Given the description of an element on the screen output the (x, y) to click on. 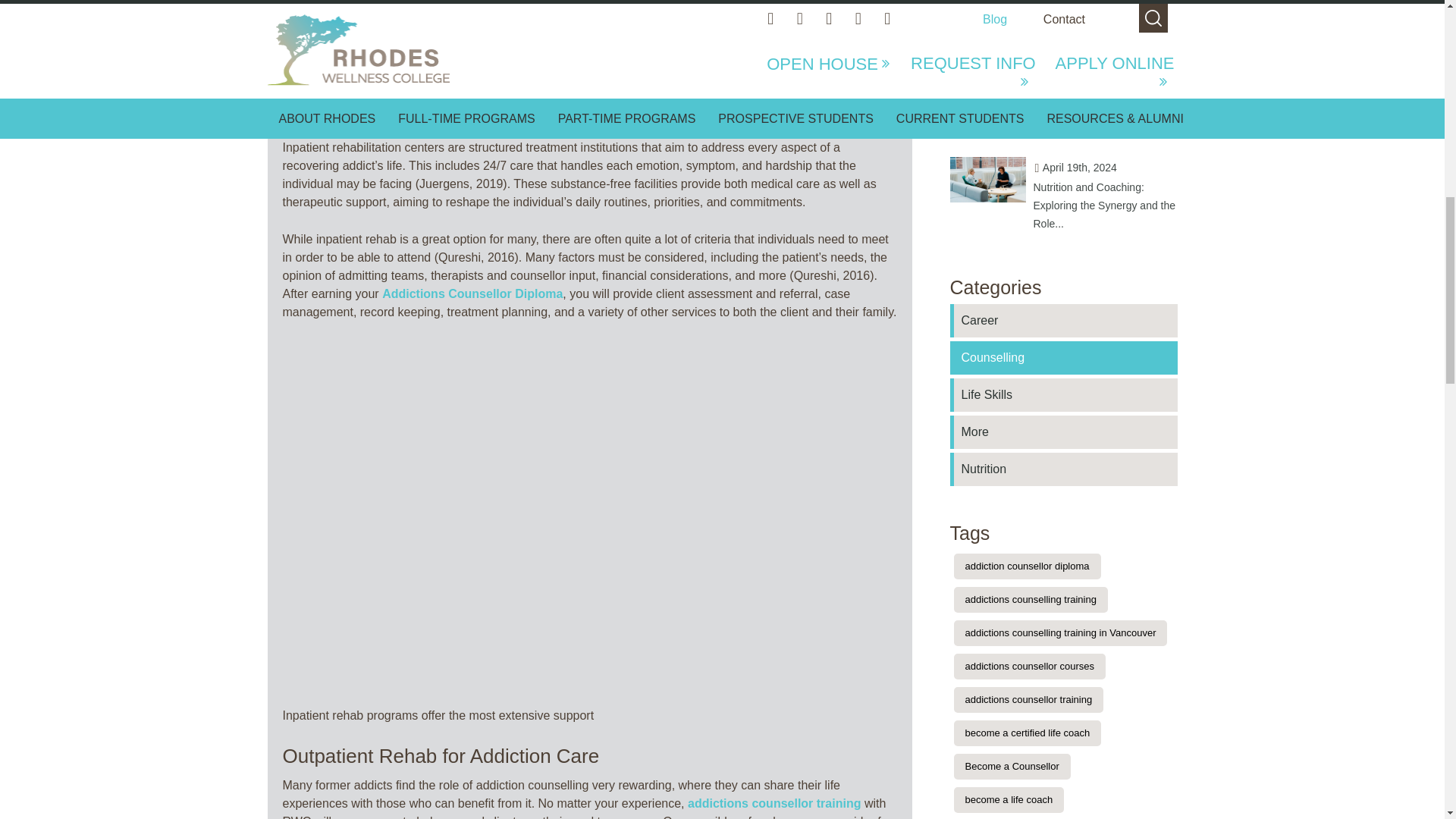
Life Coaching Business: 5 Key Tips For Success (987, 33)
